Given the description of an element on the screen output the (x, y) to click on. 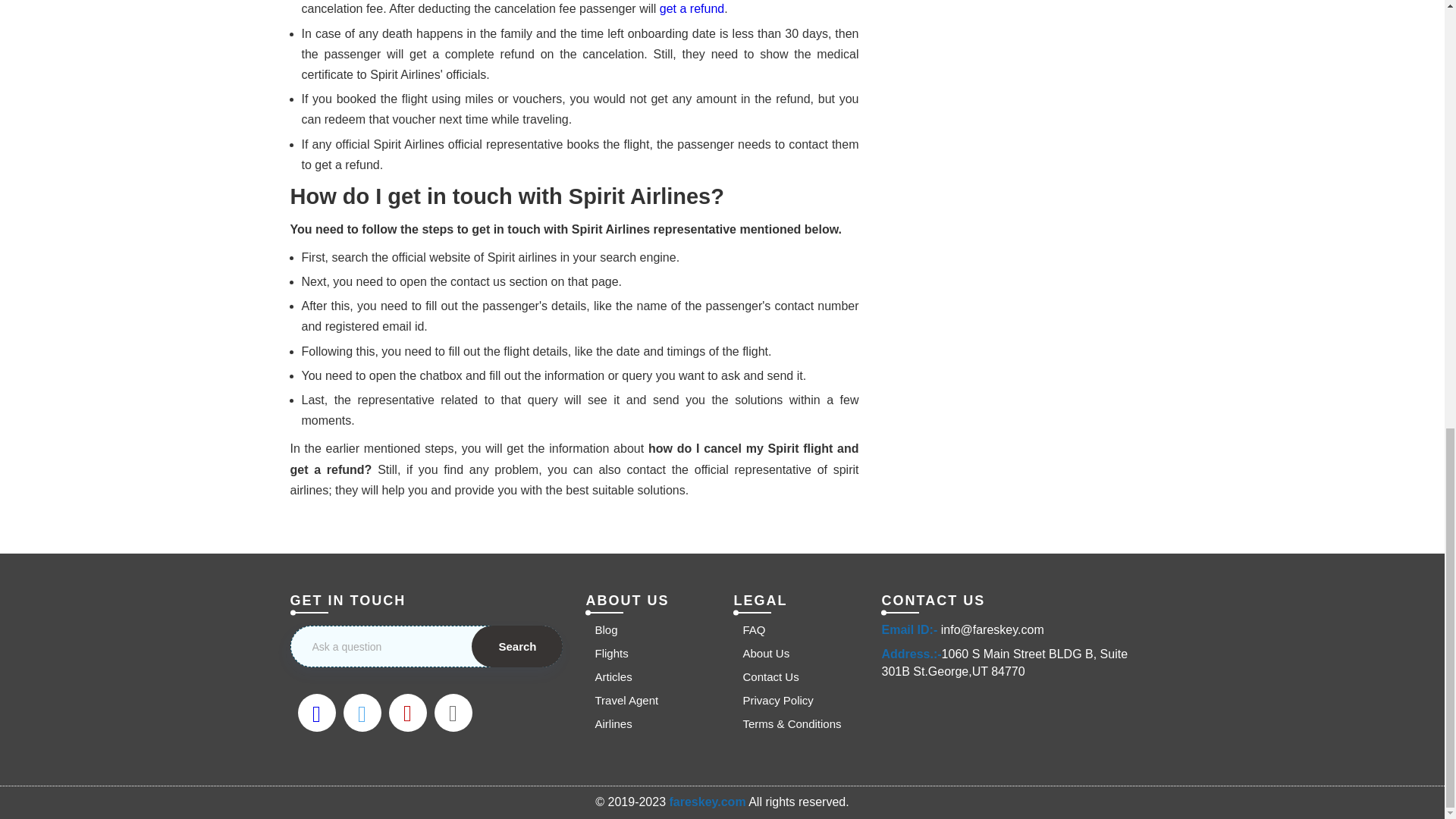
Travel Agent (621, 700)
Airlines (608, 723)
Flights (606, 652)
Blog (601, 629)
get a refund (691, 8)
About Us (761, 652)
Contact Us (765, 676)
Privacy Policy (772, 700)
Articles (608, 676)
FAQ (749, 629)
